Given the description of an element on the screen output the (x, y) to click on. 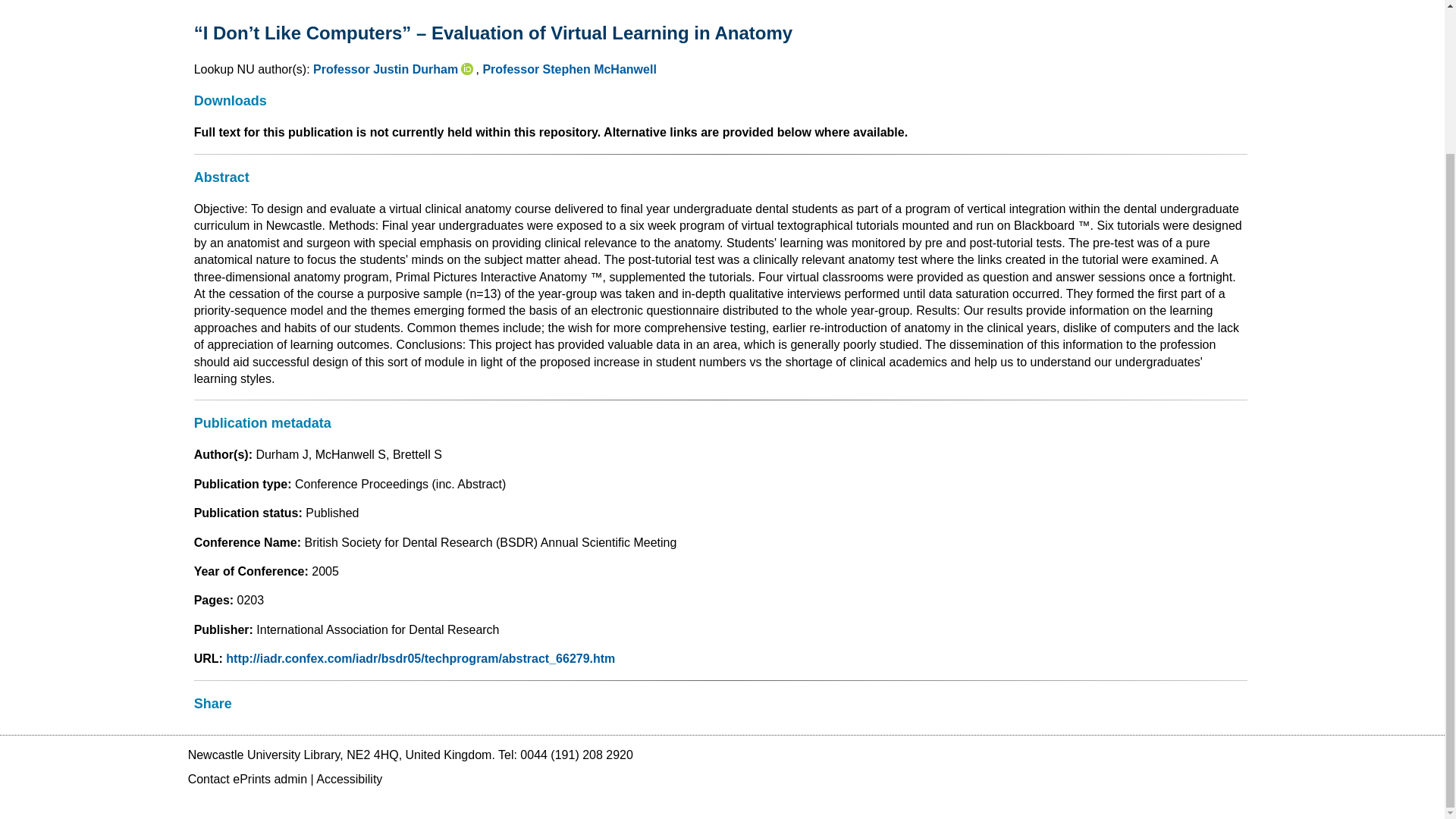
Accessibility (348, 779)
ORCID: 0000-0002-5968-1969 (468, 69)
Contact ePrints admin (247, 779)
Professor Justin Durham (385, 69)
Professor Stephen McHanwell (568, 69)
